Given the description of an element on the screen output the (x, y) to click on. 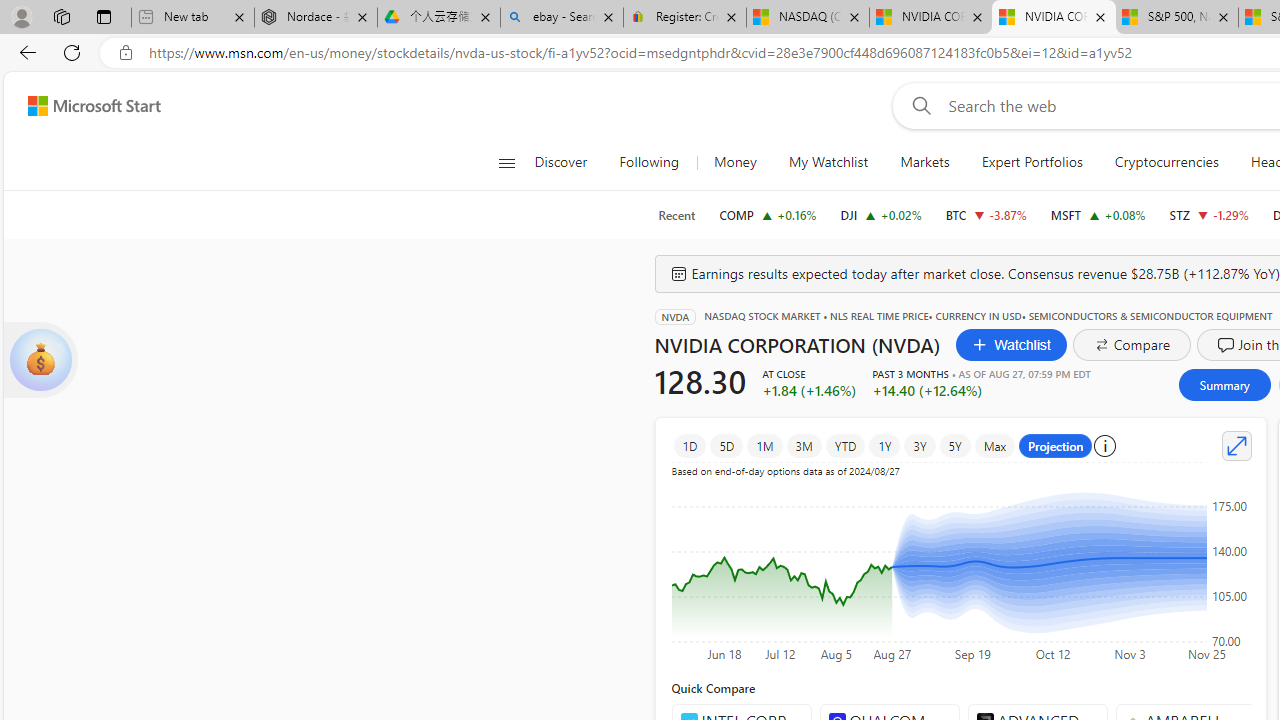
3M (803, 445)
Expert Portfolios (1031, 162)
1Y (885, 445)
BTC Bitcoin decrease 60,049.35 -2,320.91 -3.87% (986, 214)
Open navigation menu (506, 162)
YTD (845, 445)
S&P 500, Nasdaq end lower, weighed by Nvidia dip | Watch (1176, 17)
ebay - Search (561, 17)
Expert Portfolios (1032, 162)
Money (734, 162)
Watchlist (1011, 344)
My Watchlist (828, 162)
Skip to content (86, 105)
